Given the description of an element on the screen output the (x, y) to click on. 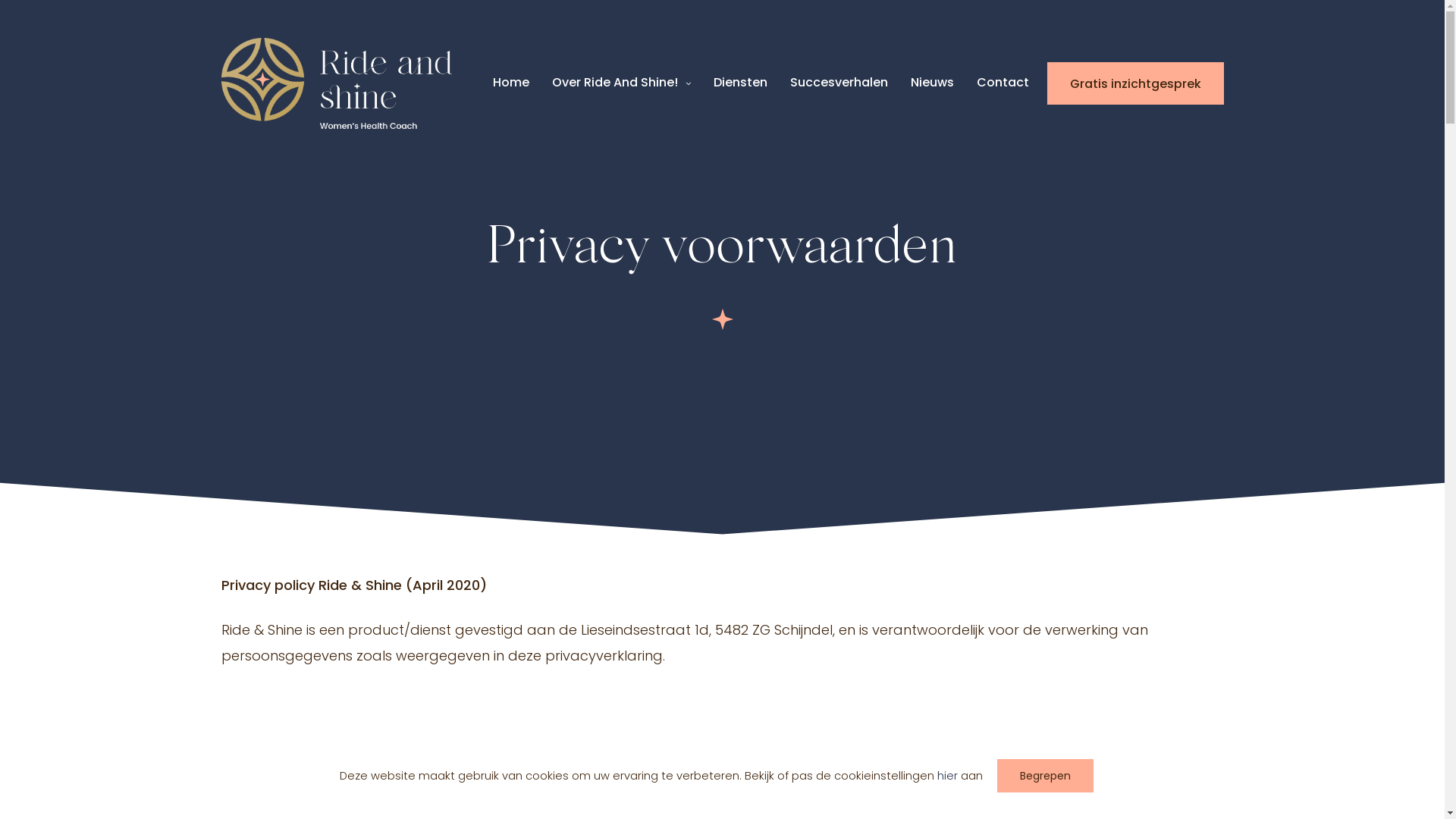
Gratis inzichtgesprek Element type: text (1134, 83)
Diensten Element type: text (739, 83)
Over Ride And Shine! Element type: text (621, 83)
hier Element type: text (947, 775)
Succesverhalen Element type: text (839, 83)
Nieuws Element type: text (931, 83)
Contact Element type: text (1002, 83)
rideandshine-ster Element type: hover (721, 318)
Ride And Shine Element type: hover (336, 82)
Home Element type: text (510, 83)
Begrepen Element type: text (1045, 775)
